Given the description of an element on the screen output the (x, y) to click on. 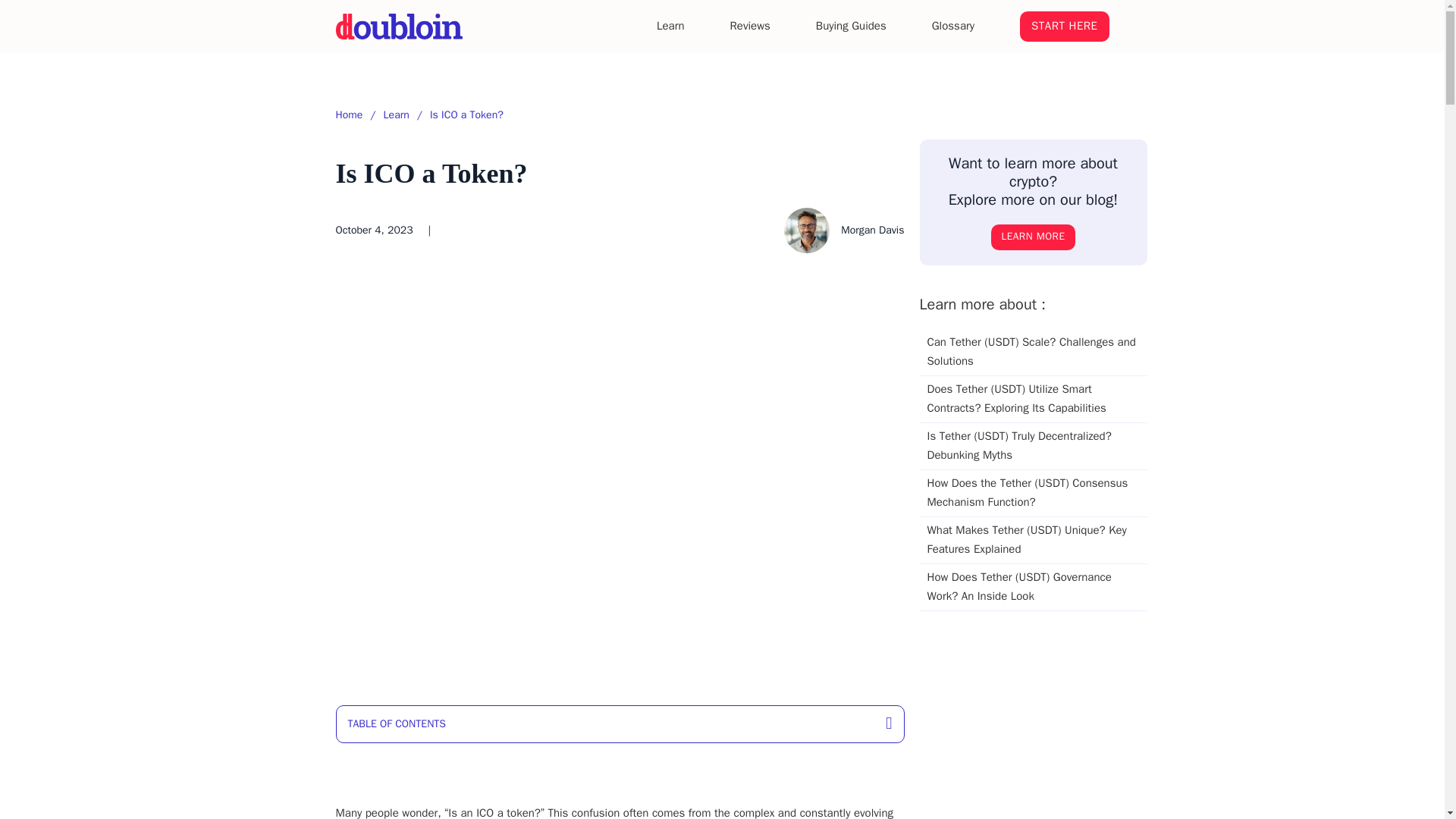
Home (348, 115)
Buying Guides (850, 26)
Glossary (952, 26)
LEARN MORE (1033, 237)
Reviews (750, 26)
Learn (670, 26)
Morgan Davis (844, 230)
Learn (396, 115)
START HERE (1064, 26)
